Given the description of an element on the screen output the (x, y) to click on. 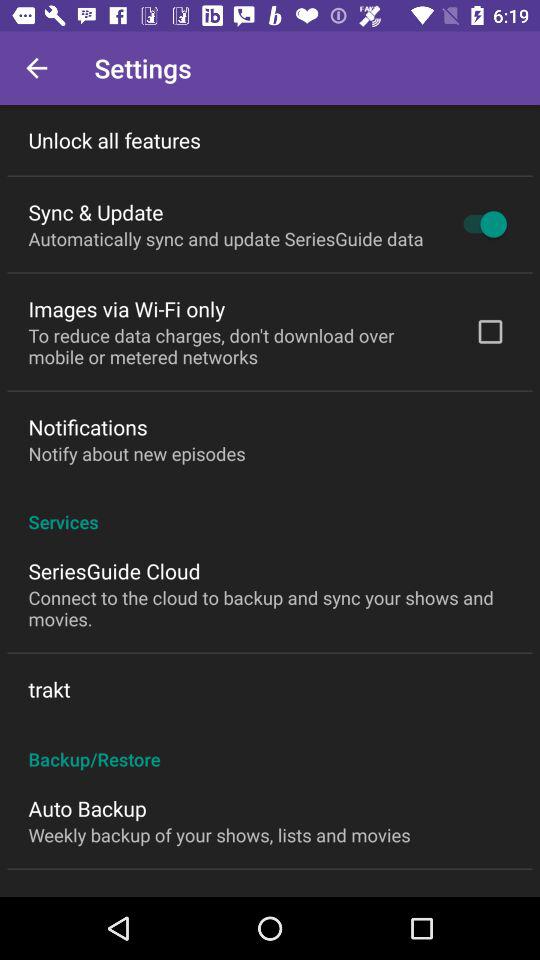
swipe until trakt item (49, 689)
